Given the description of an element on the screen output the (x, y) to click on. 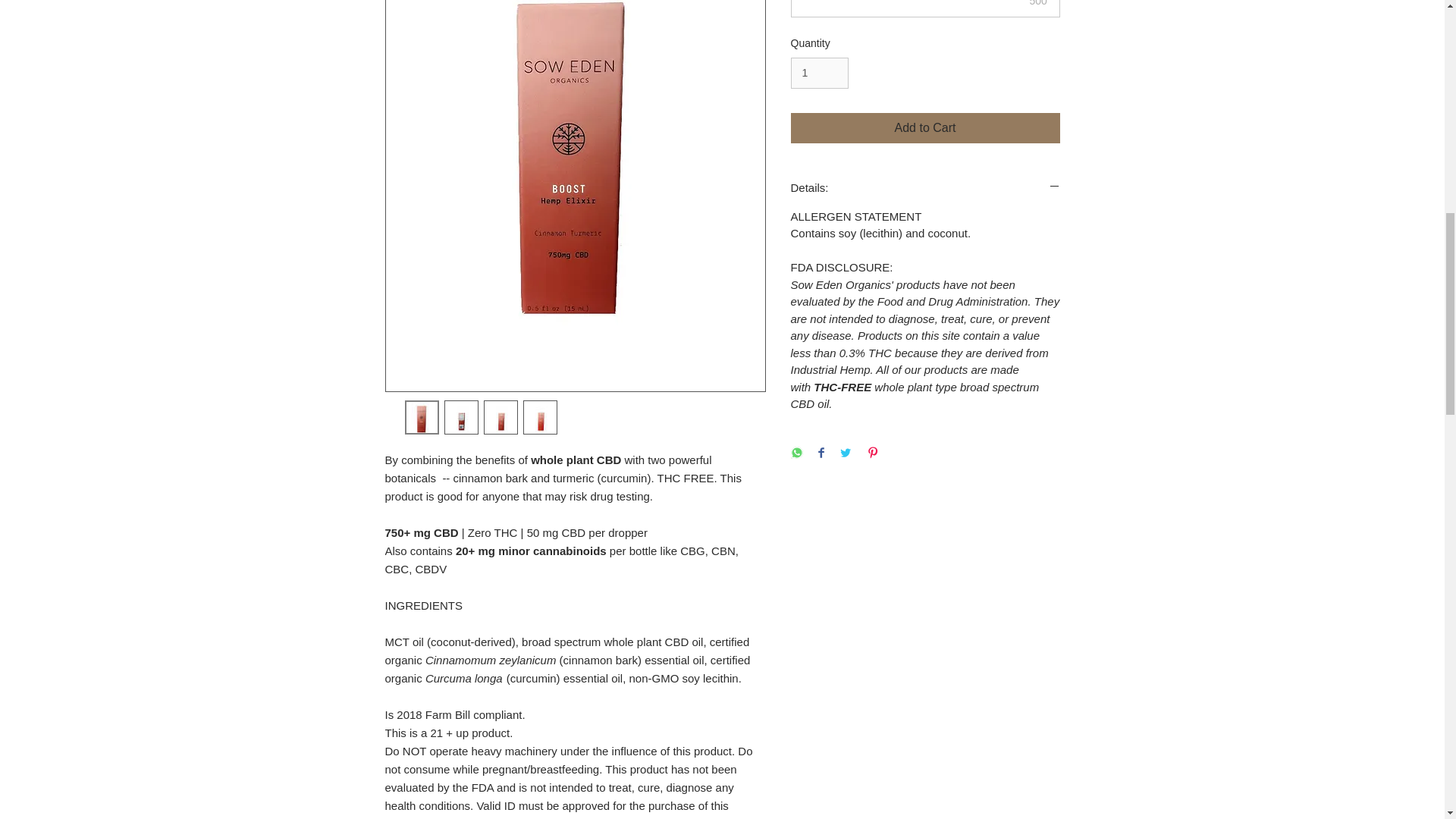
1 (818, 72)
Details: (924, 187)
Add to Cart (924, 128)
